Given the description of an element on the screen output the (x, y) to click on. 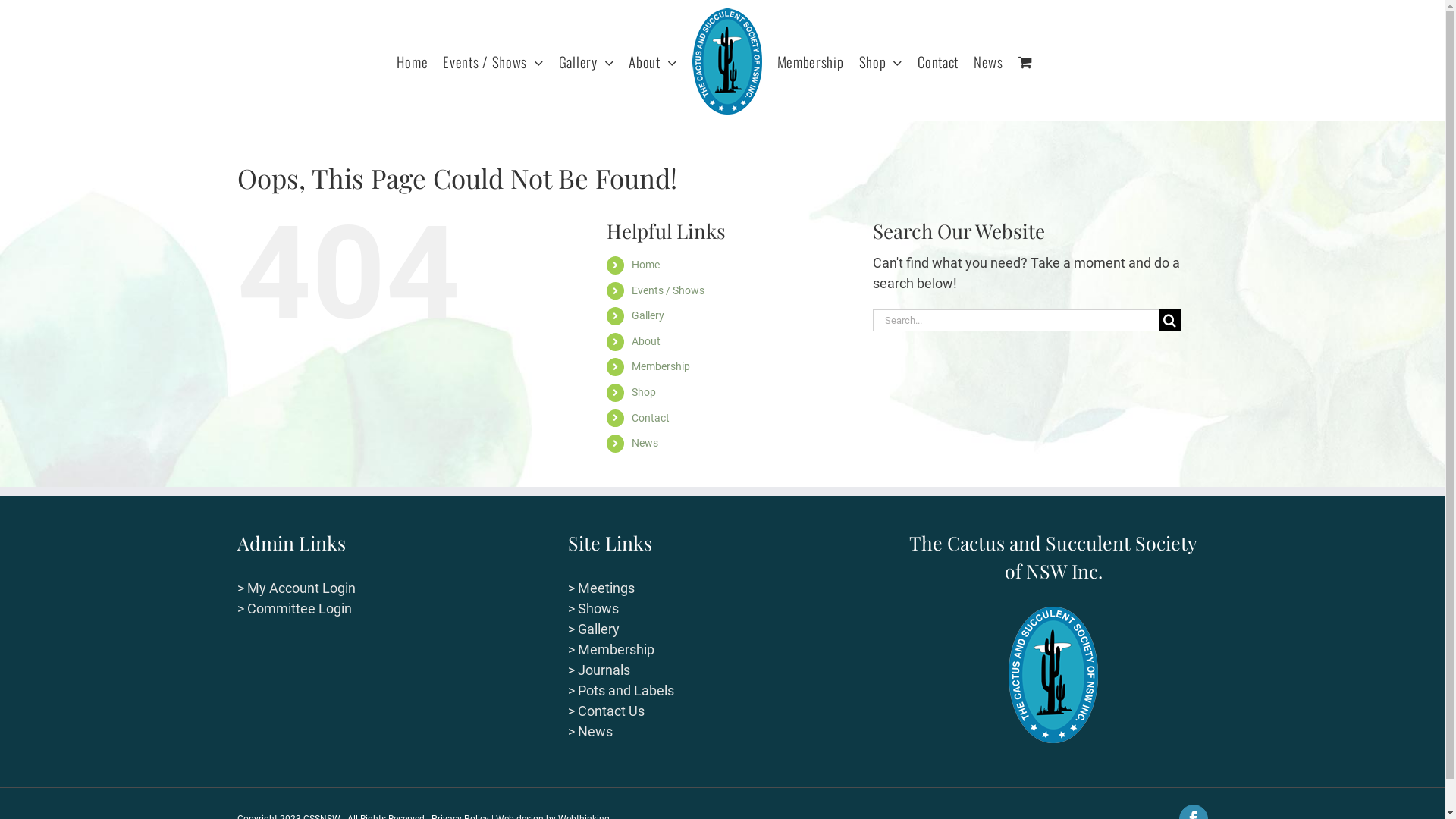
Events / Shows Element type: text (667, 290)
Shop Element type: text (643, 391)
> Committee Login Element type: text (293, 608)
Contact Element type: text (937, 60)
News Element type: text (644, 442)
Membership Element type: text (660, 366)
Home Element type: text (645, 264)
> Pots and Labels Element type: text (620, 690)
About Element type: text (652, 60)
> Contact Us Element type: text (605, 710)
About Element type: text (645, 341)
Gallery Element type: text (586, 60)
> My Account Login Element type: text (295, 588)
> News Element type: text (589, 731)
Contact Element type: text (650, 417)
> Shows Element type: text (592, 608)
> Membership Element type: text (610, 649)
Home Element type: text (411, 60)
Events / Shows Element type: text (492, 60)
> Journals Element type: text (598, 669)
Membership Element type: text (810, 60)
News Element type: text (988, 60)
> Gallery Element type: text (593, 629)
Gallery Element type: text (647, 315)
Shop Element type: text (881, 60)
> Meetings Element type: text (600, 588)
